Given the description of an element on the screen output the (x, y) to click on. 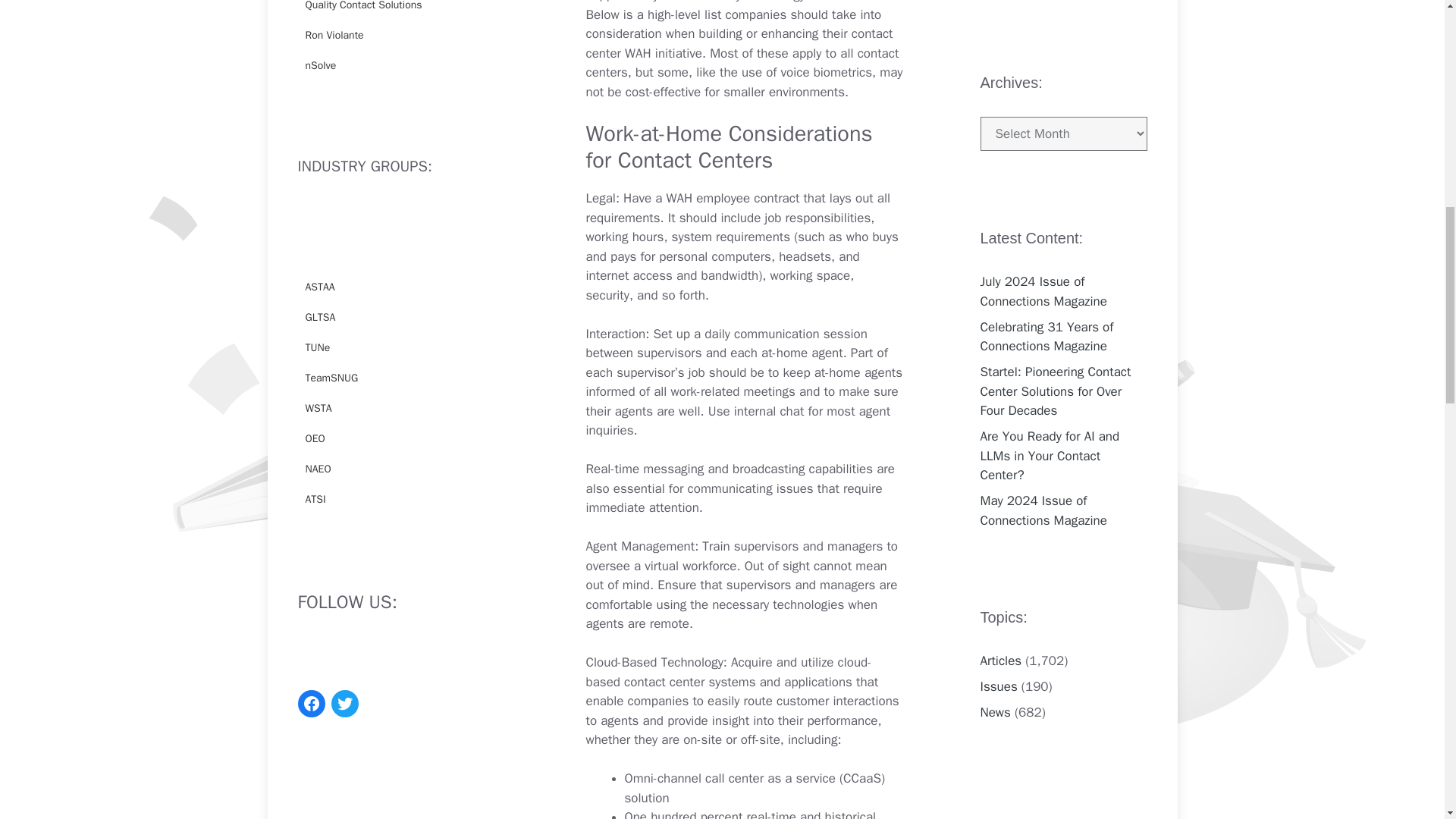
Scroll back to top (1406, 720)
